Given the description of an element on the screen output the (x, y) to click on. 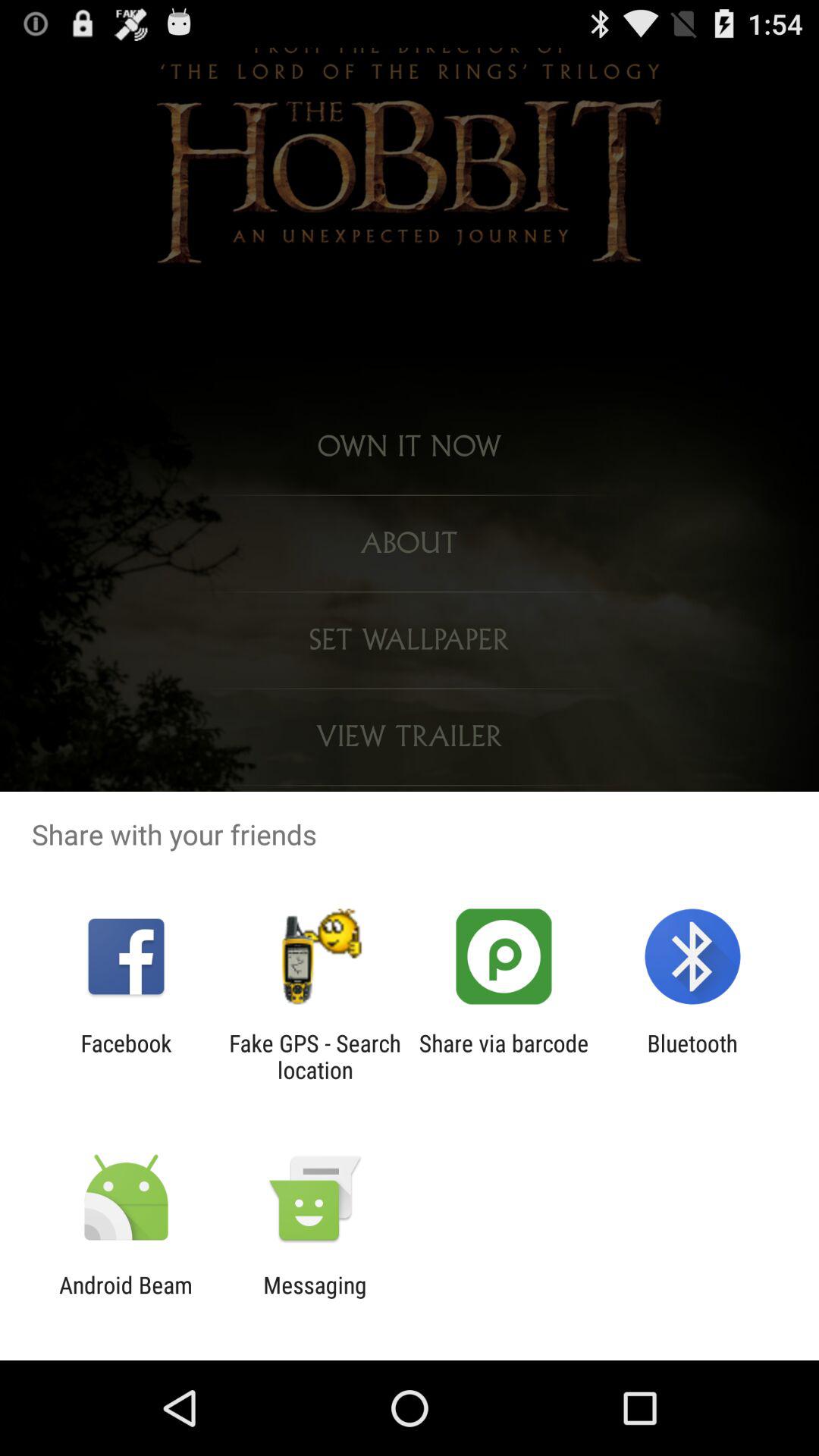
launch item next to facebook icon (314, 1056)
